Given the description of an element on the screen output the (x, y) to click on. 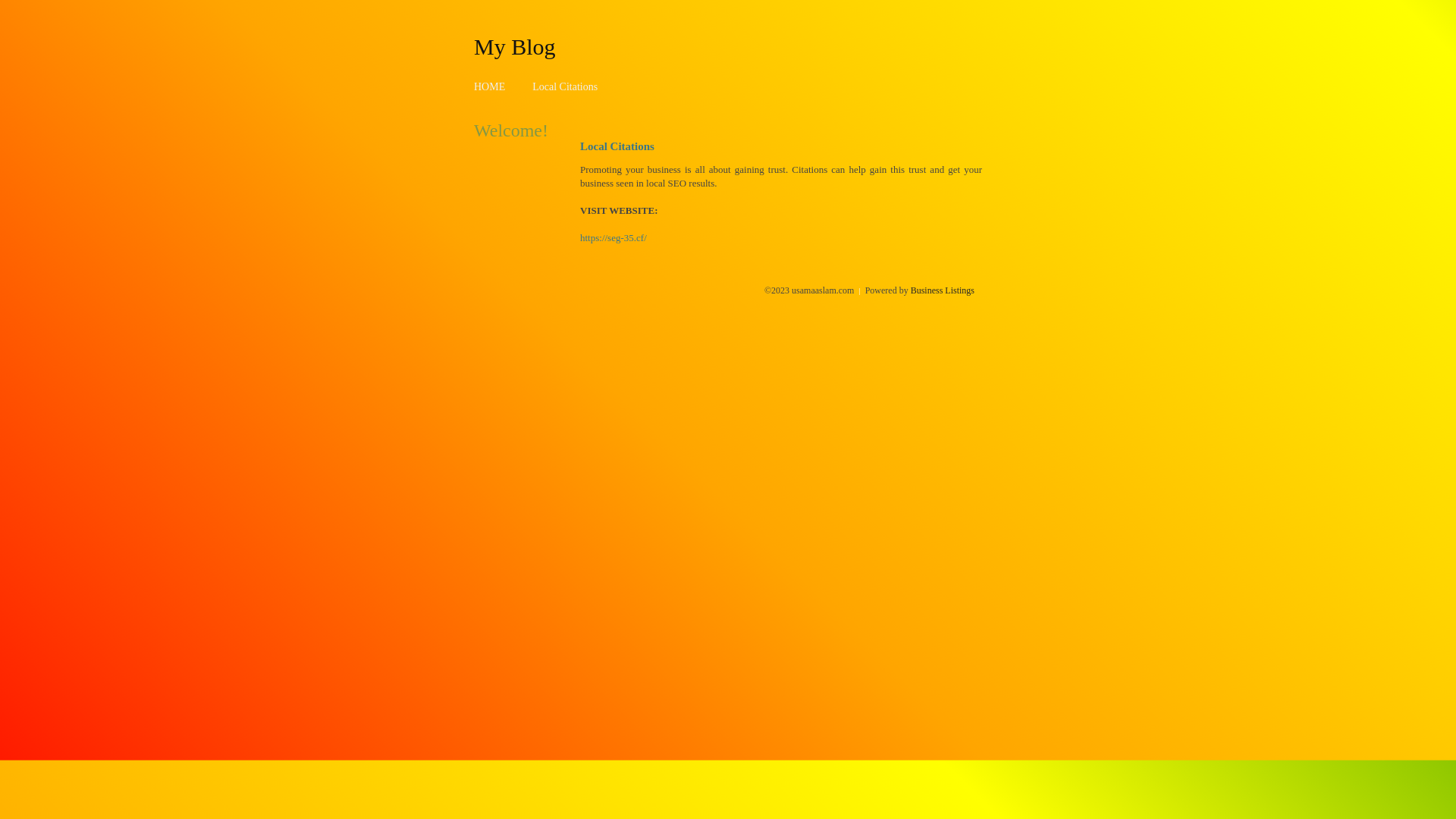
HOME Element type: text (489, 86)
Business Listings Element type: text (942, 290)
https://seg-35.cf/ Element type: text (613, 237)
Local Citations Element type: text (564, 86)
My Blog Element type: text (514, 46)
